Given the description of an element on the screen output the (x, y) to click on. 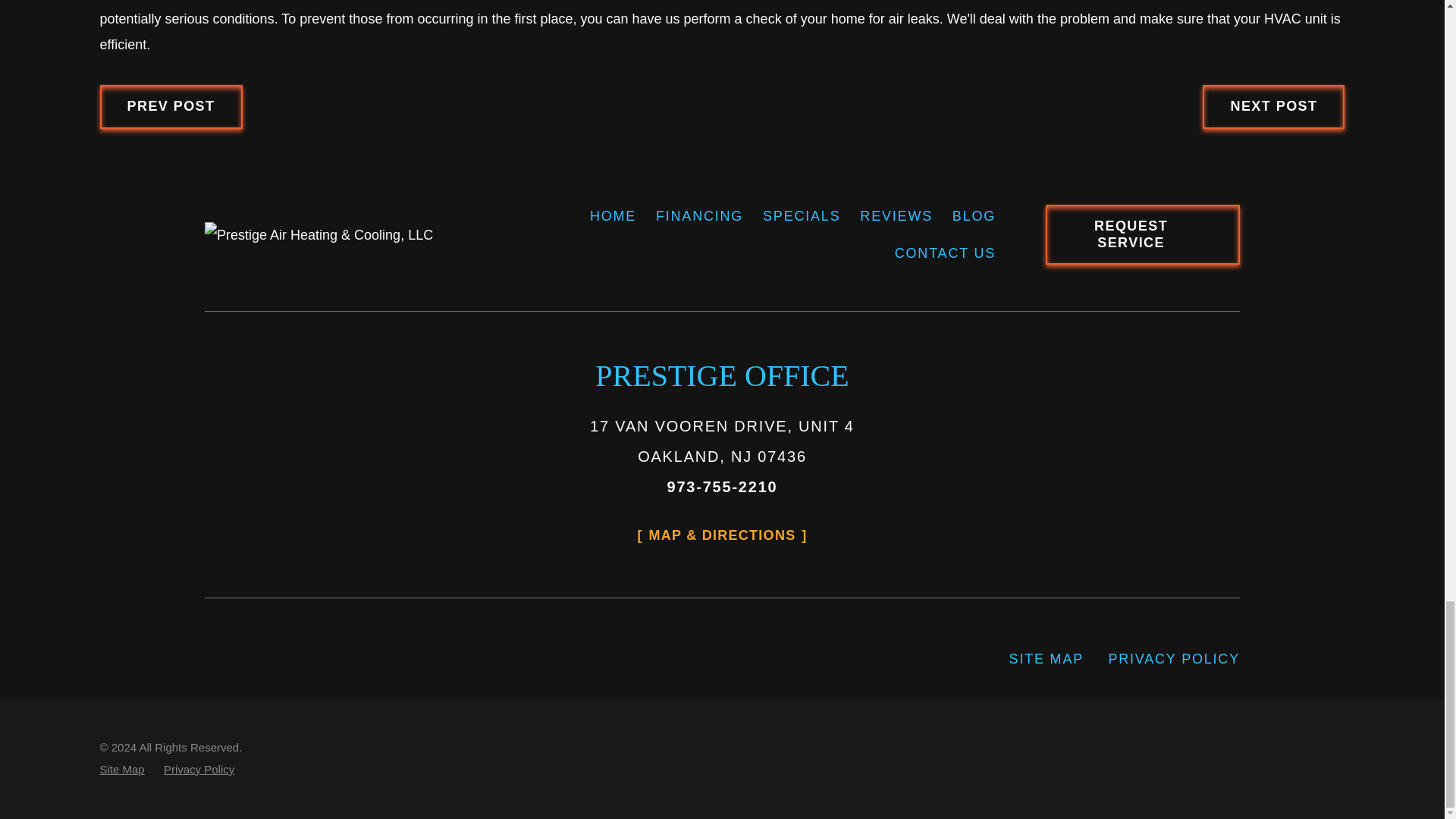
Facebook (291, 658)
Yelp (255, 658)
Google Business Profile (219, 658)
